Given the description of an element on the screen output the (x, y) to click on. 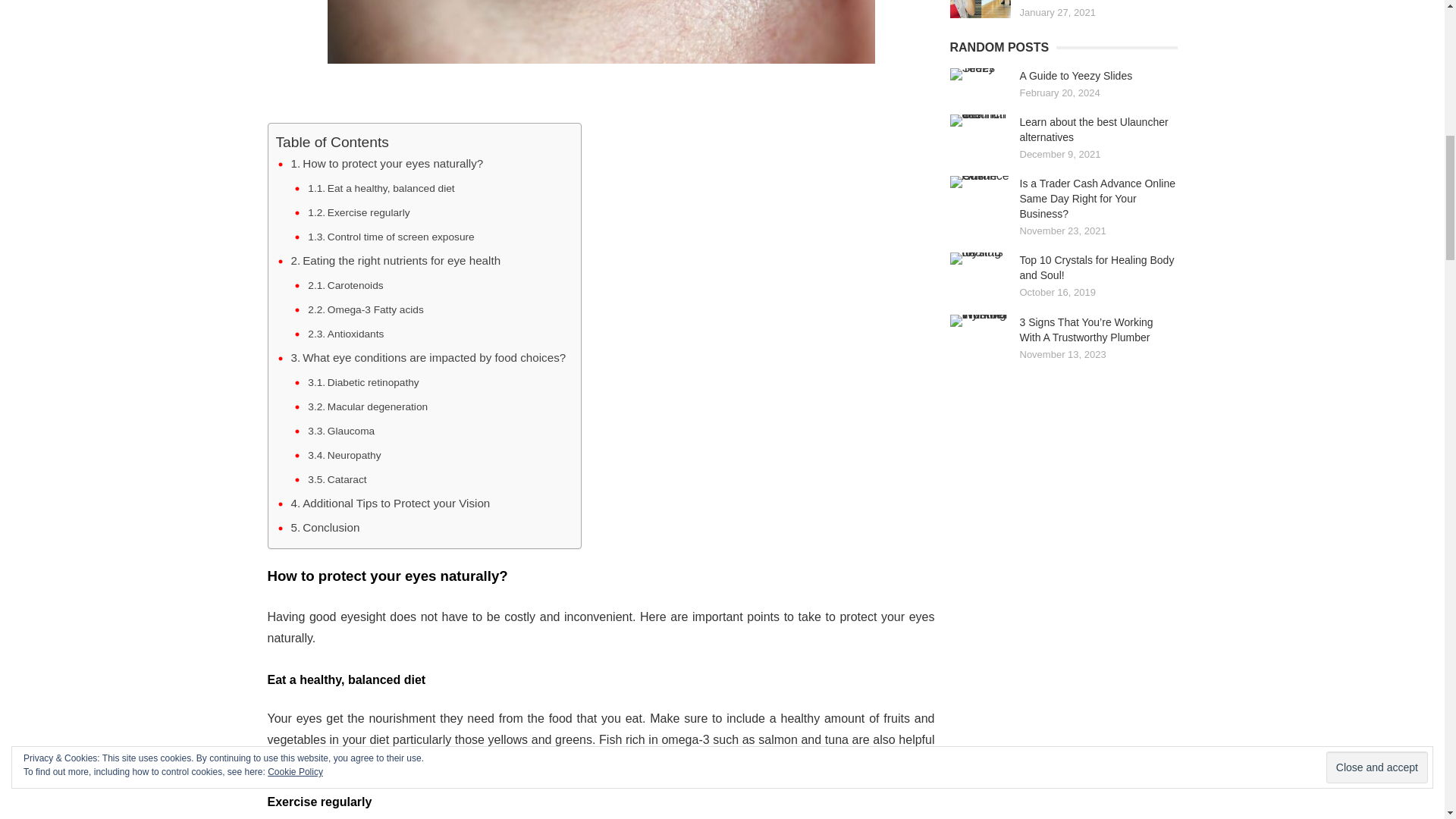
eyes health (601, 31)
Antioxidants (345, 334)
Omega-3 Fatty acids (365, 310)
How to protect your eyes naturally? (387, 163)
Eating the right nutrients for eye health (395, 260)
Control time of screen exposure (390, 237)
Exercise regularly (358, 212)
What eye conditions are impacted by food choices? (428, 357)
Diabetic retinopathy (363, 382)
Carotenoids (344, 285)
Eat a healthy, balanced diet (380, 188)
